Given the description of an element on the screen output the (x, y) to click on. 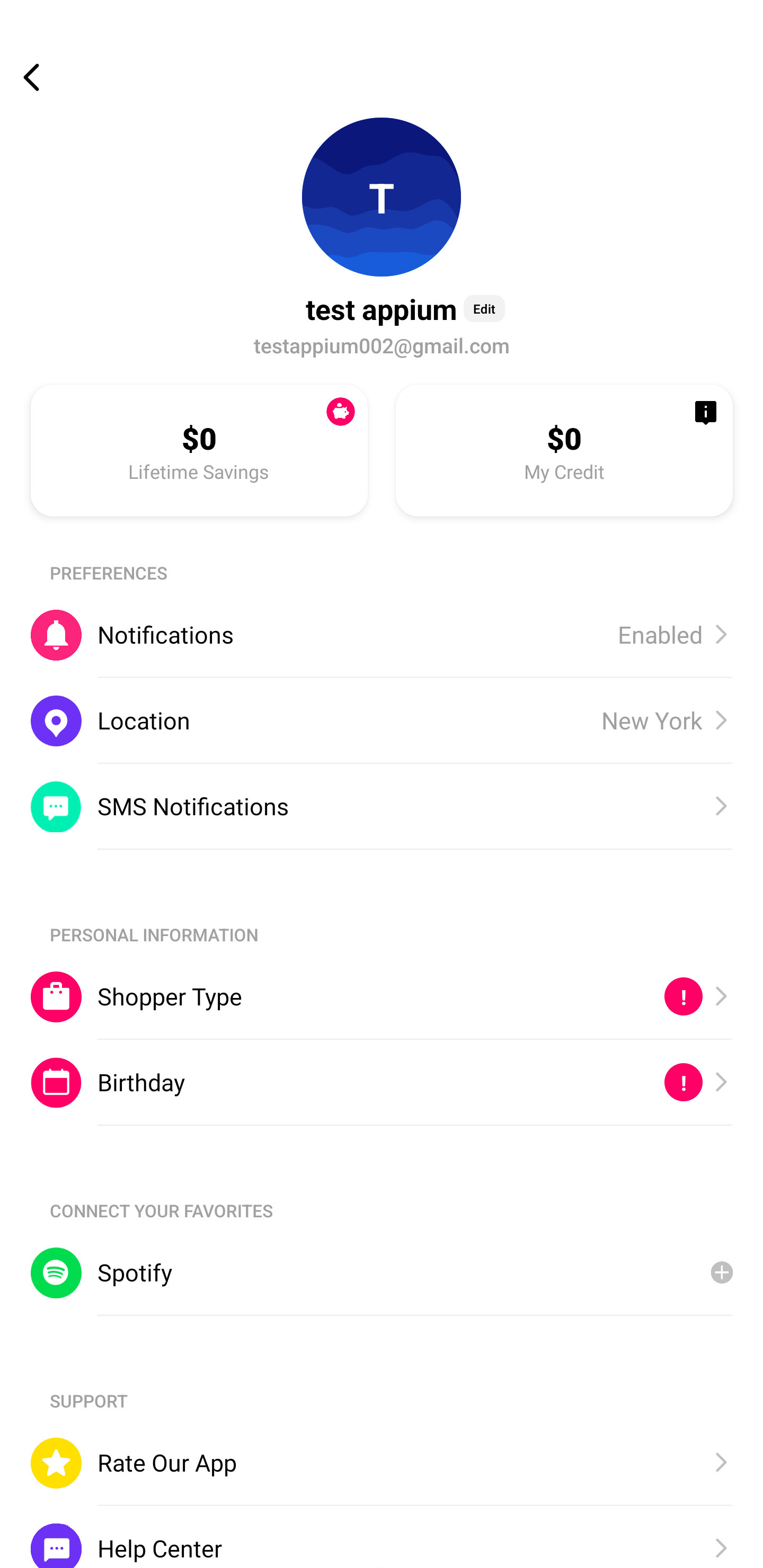
T (381, 196)
Edit (484, 307)
$0, Lifetime Savings $0 Lifetime Savings (198, 449)
$0, My Credit $0 My Credit (563, 449)
Location, New York Location New York (381, 720)
SMS Notifications,    SMS Notifications    (381, 806)
Shopper Type,   , ! Shopper Type    ! (381, 996)
Birthday,   , ! Birthday    ! (381, 1082)
Spotify,    Spotify    (381, 1272)
Rate Our App,    Rate Our App    (381, 1462)
Help Center,    Help Center    (381, 1536)
